Given the description of an element on the screen output the (x, y) to click on. 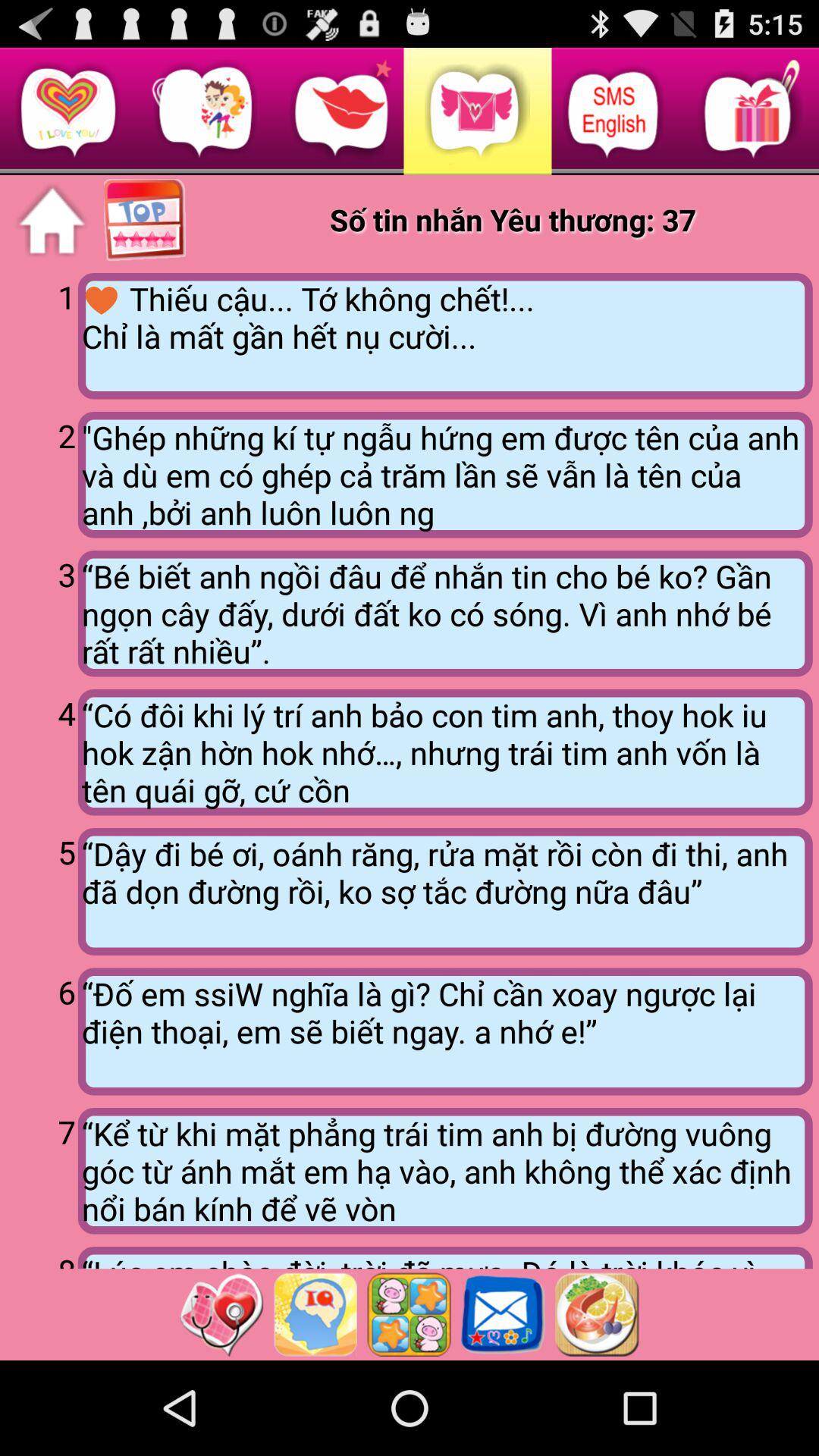
mail (502, 1314)
